Given the description of an element on the screen output the (x, y) to click on. 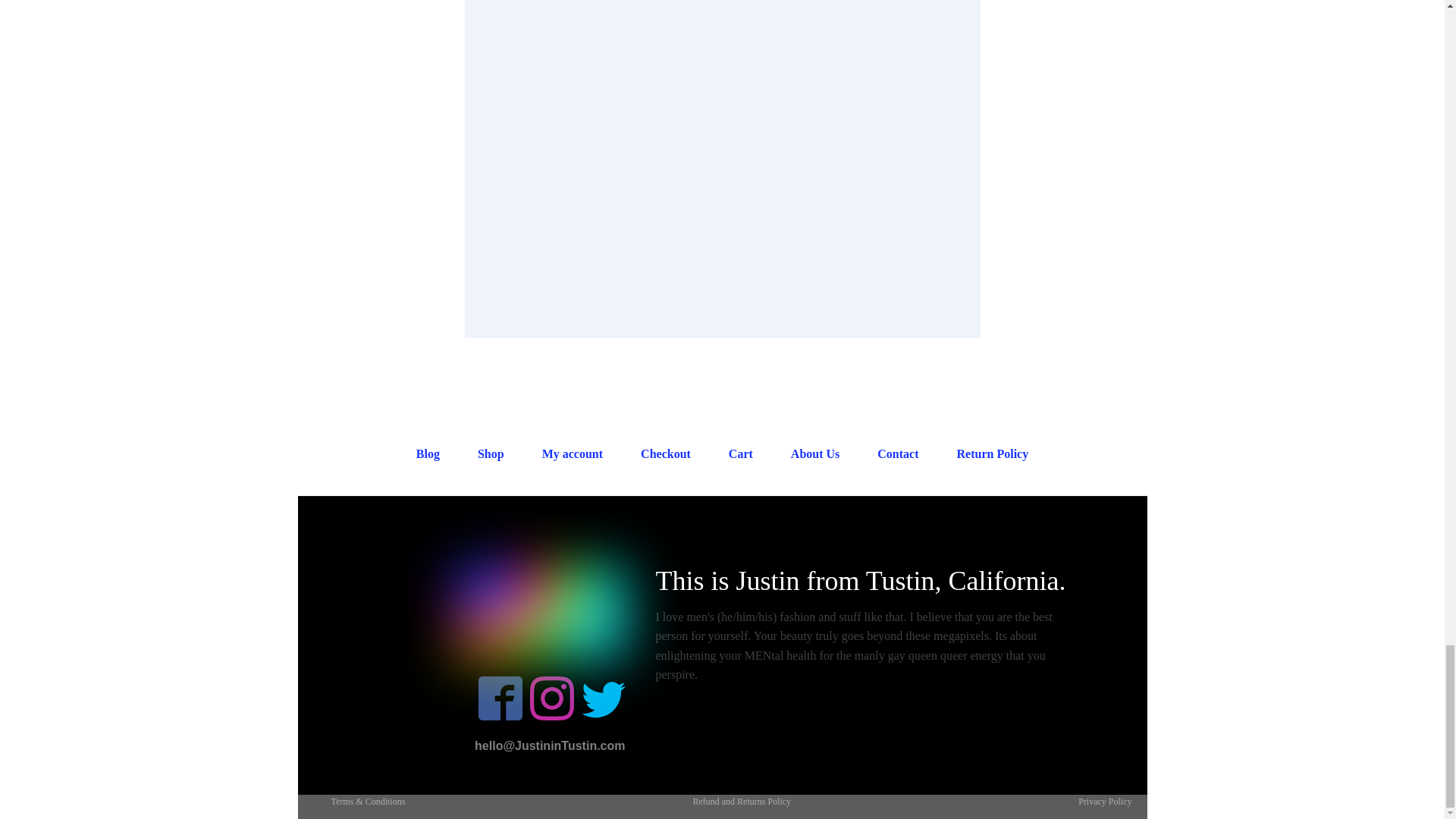
Checkout (665, 454)
My account (571, 454)
Shop (490, 454)
Cart (740, 454)
Comment Form (721, 147)
Blog (427, 454)
